Given the description of an element on the screen output the (x, y) to click on. 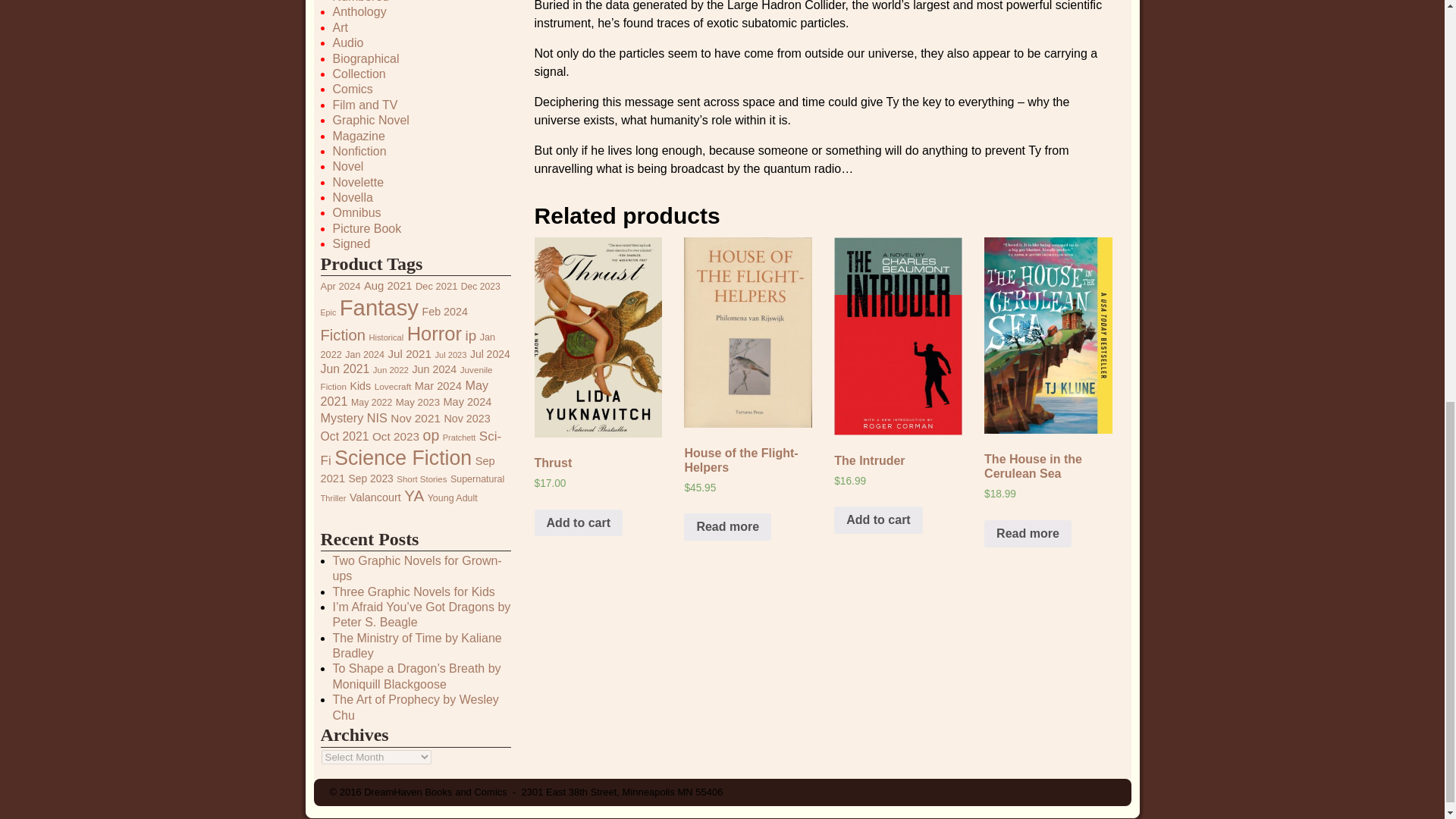
Add to cart (578, 523)
Read more (1027, 533)
Read more (727, 526)
Add to cart (877, 519)
